Given the description of an element on the screen output the (x, y) to click on. 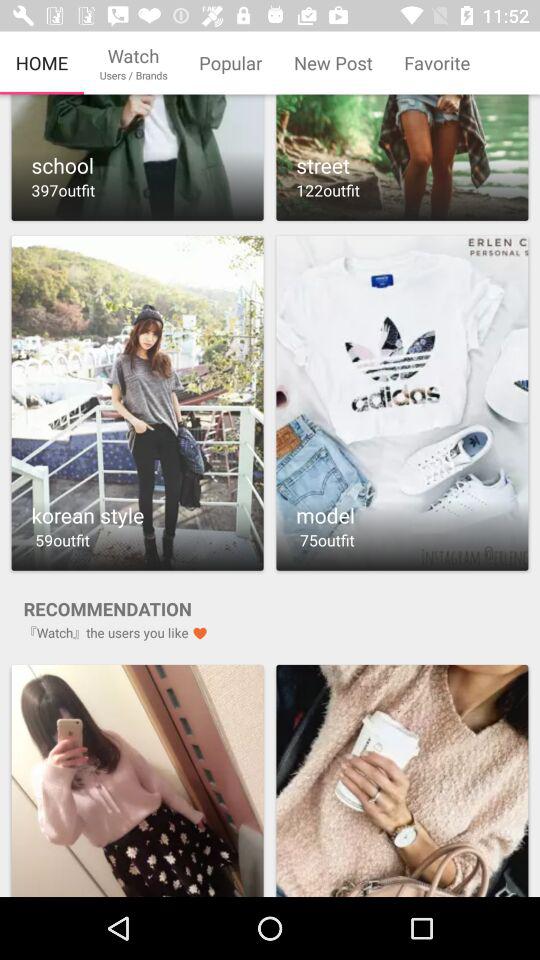
the selected image (402, 780)
